Given the description of an element on the screen output the (x, y) to click on. 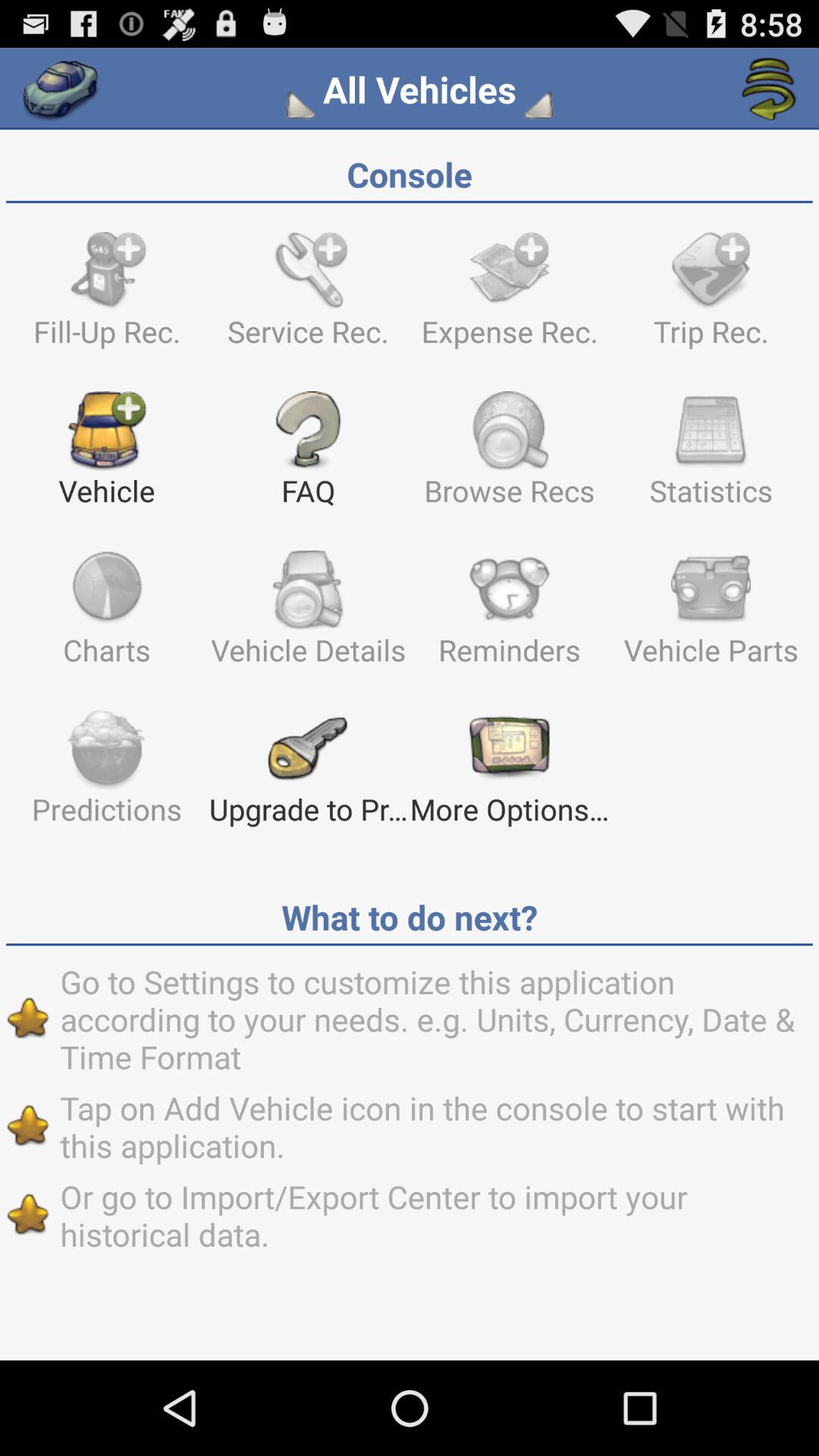
select item next to the more options... item (307, 773)
